Given the description of an element on the screen output the (x, y) to click on. 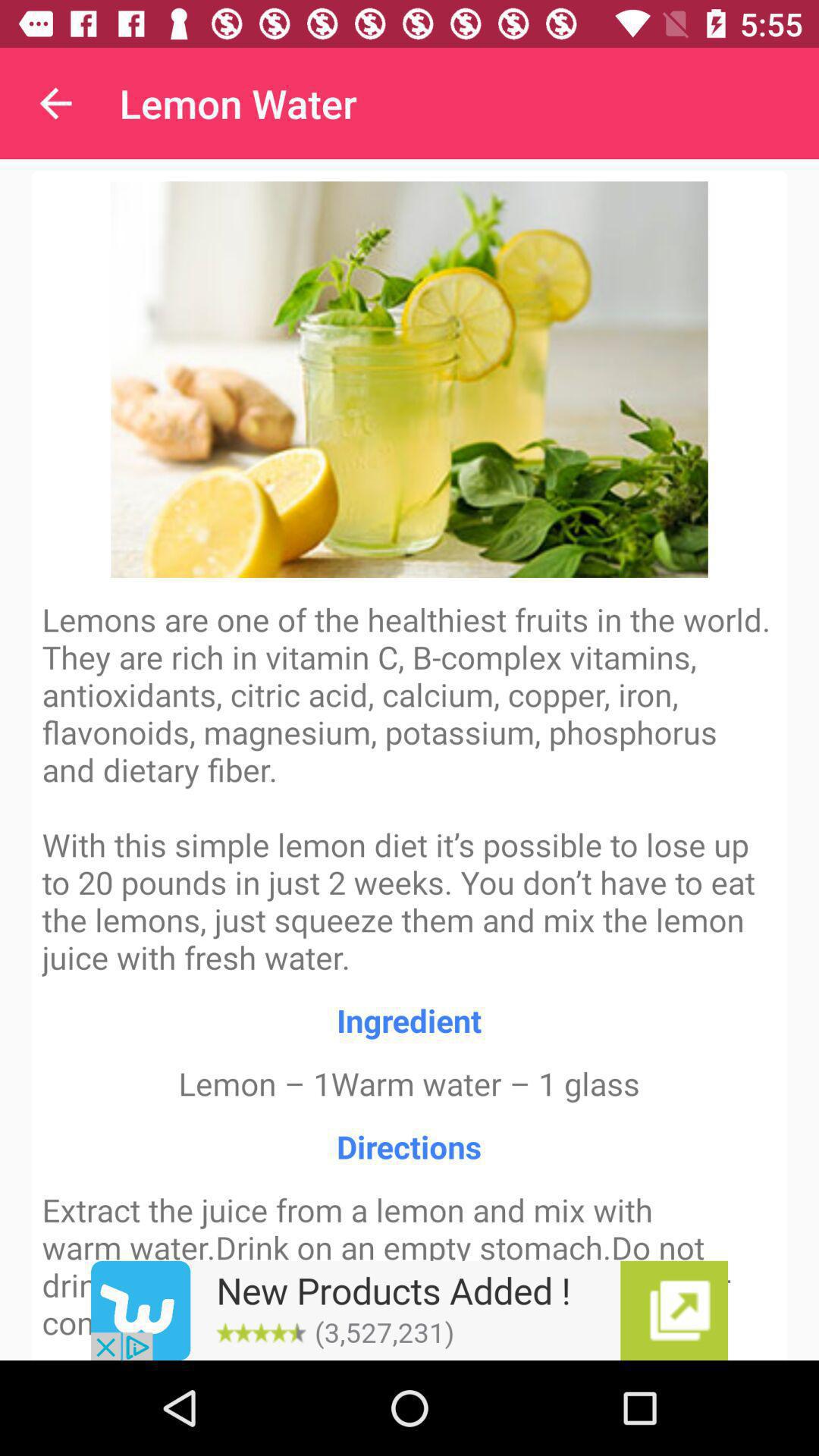
click advertisement (409, 1310)
